Given the description of an element on the screen output the (x, y) to click on. 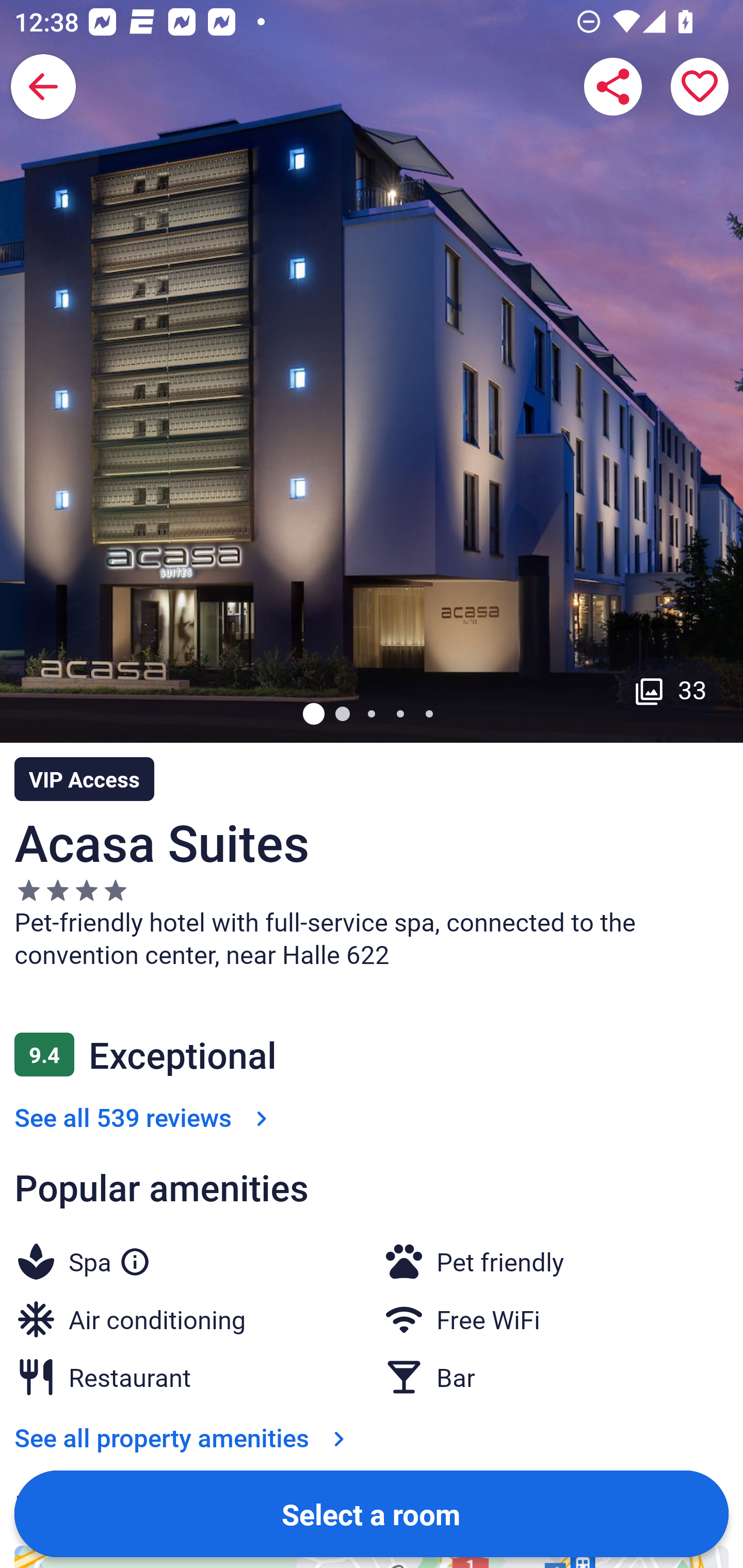
Back (43, 86)
Save property to a trip (699, 86)
Share Acasa Suites (612, 87)
Gallery button with 33 images (670, 689)
See all 539 reviews See all 539 reviews Link (144, 1117)
Spa (109, 1258)
See all property amenities (183, 1436)
Select a room Button Select a room (371, 1513)
